Given the description of an element on the screen output the (x, y) to click on. 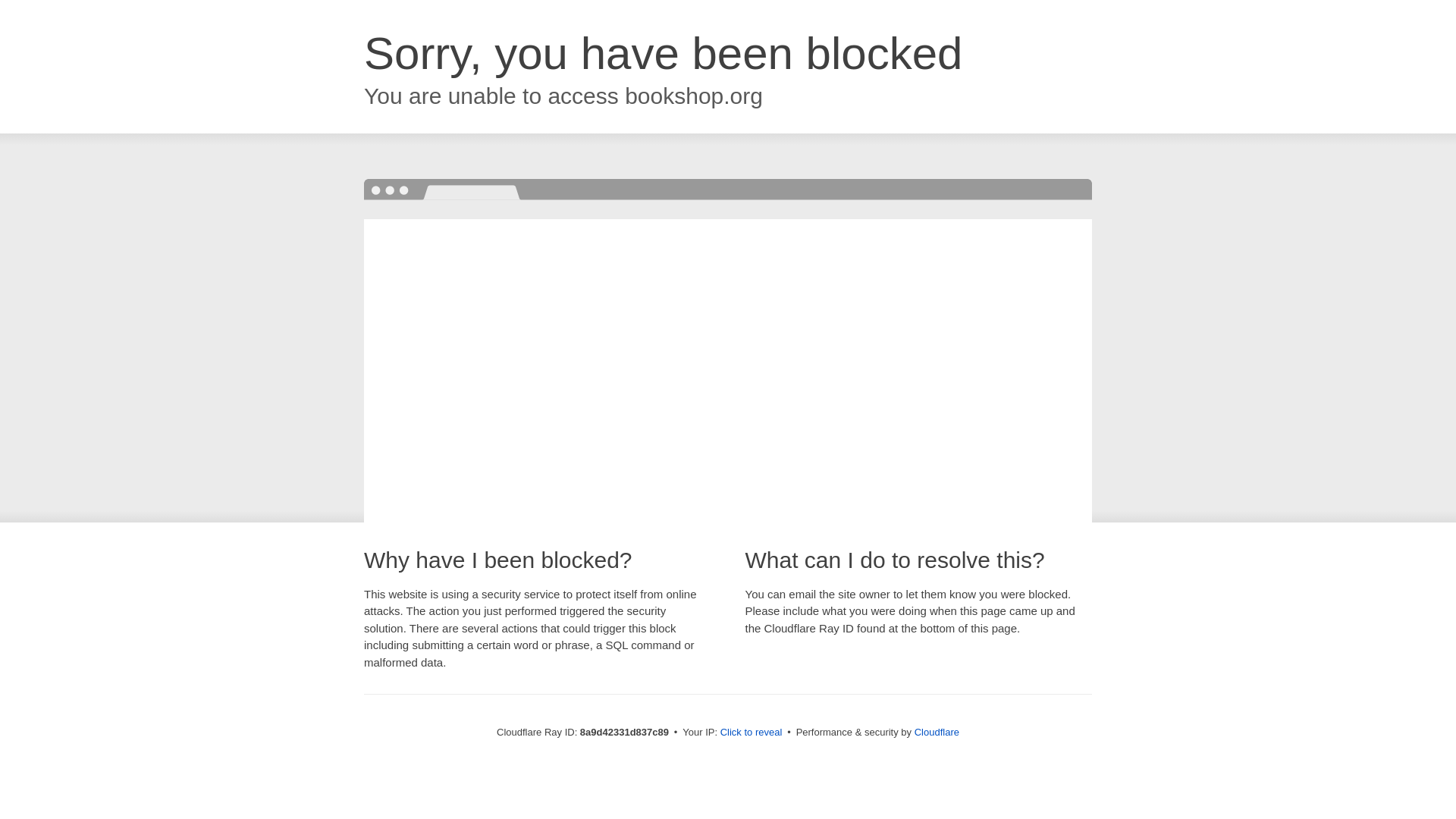
Click to reveal (751, 732)
Cloudflare (936, 731)
